Given the description of an element on the screen output the (x, y) to click on. 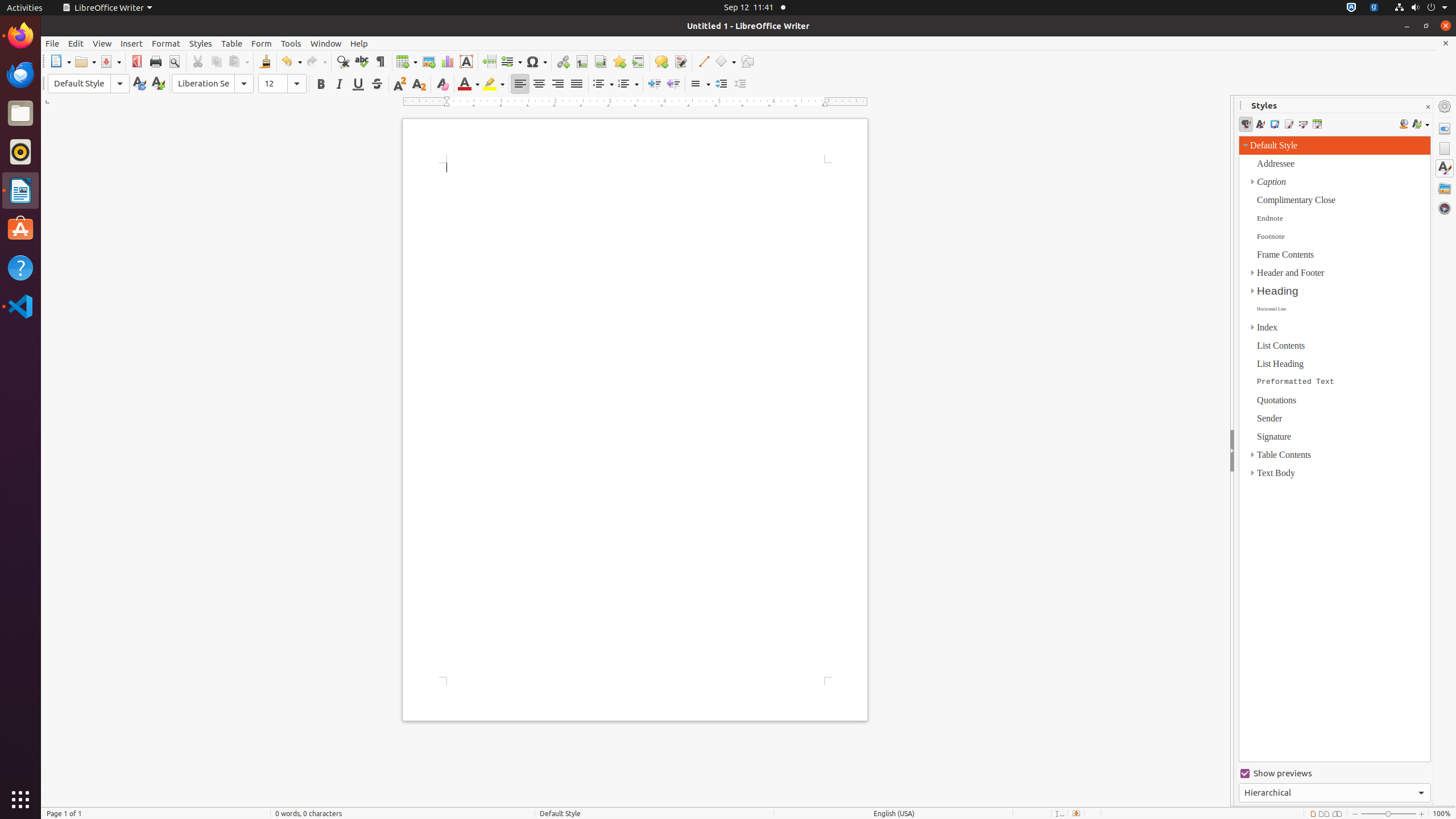
Clear Element type: push-button (441, 83)
Help Element type: menu (358, 43)
Print Element type: push-button (155, 61)
Cut Element type: push-button (197, 61)
Cross-reference Element type: push-button (637, 61)
